Given the description of an element on the screen output the (x, y) to click on. 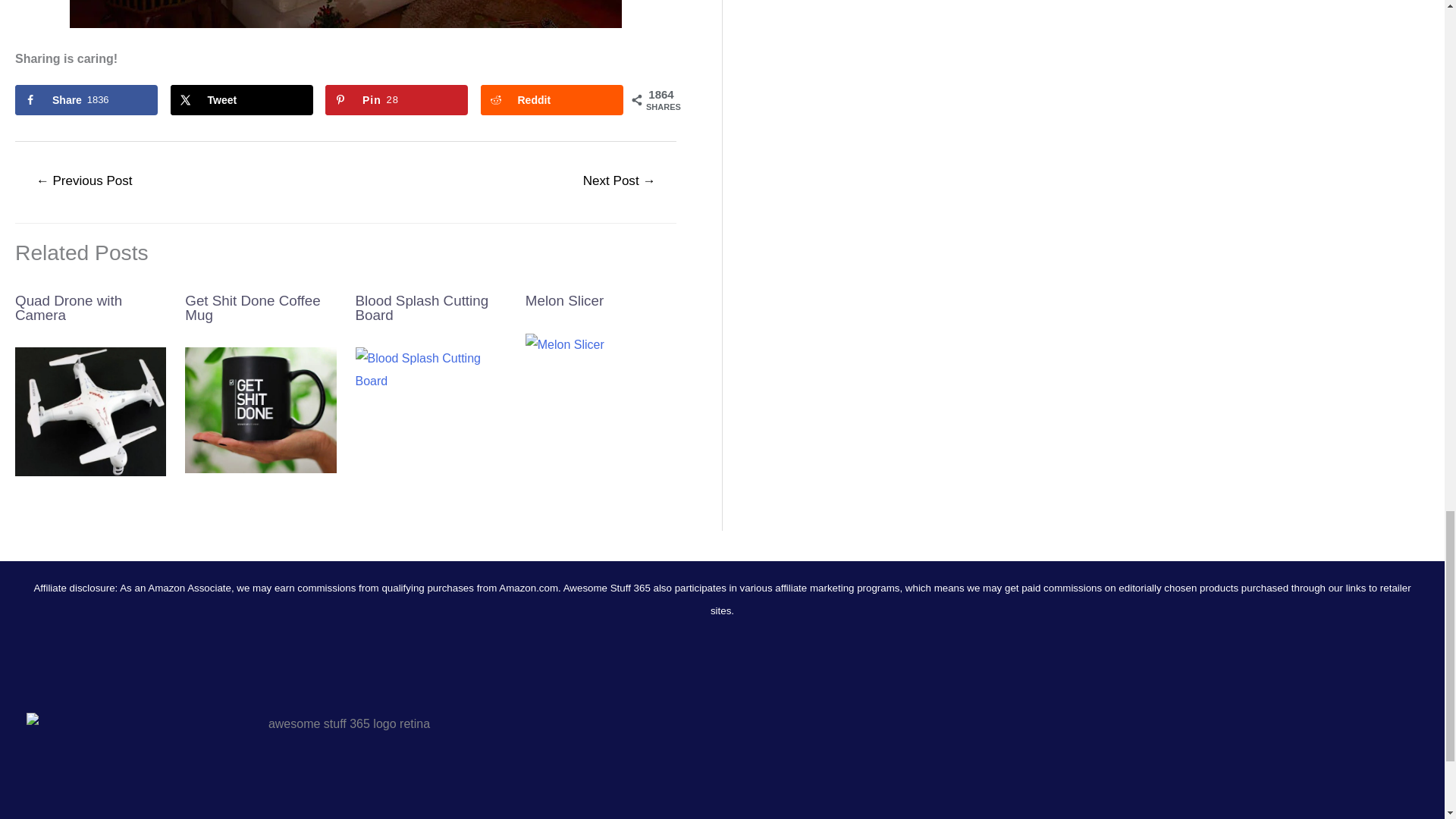
Save to Pinterest (395, 100)
Share on Reddit (551, 100)
Share on Facebook (85, 100)
Share on X (241, 100)
